Given the description of an element on the screen output the (x, y) to click on. 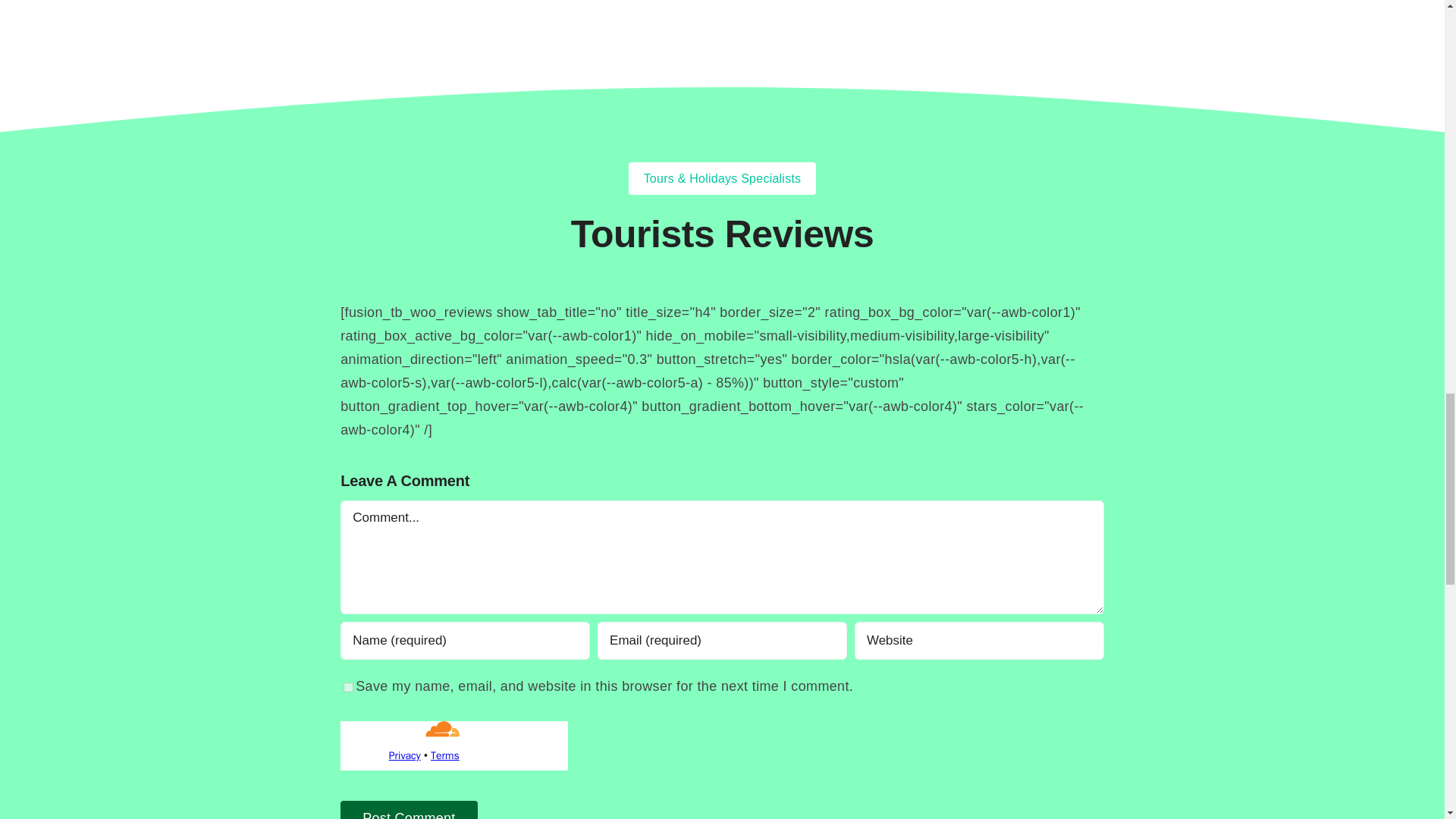
Post Comment (408, 809)
Post Comment (408, 809)
yes (348, 687)
